Given the description of an element on the screen output the (x, y) to click on. 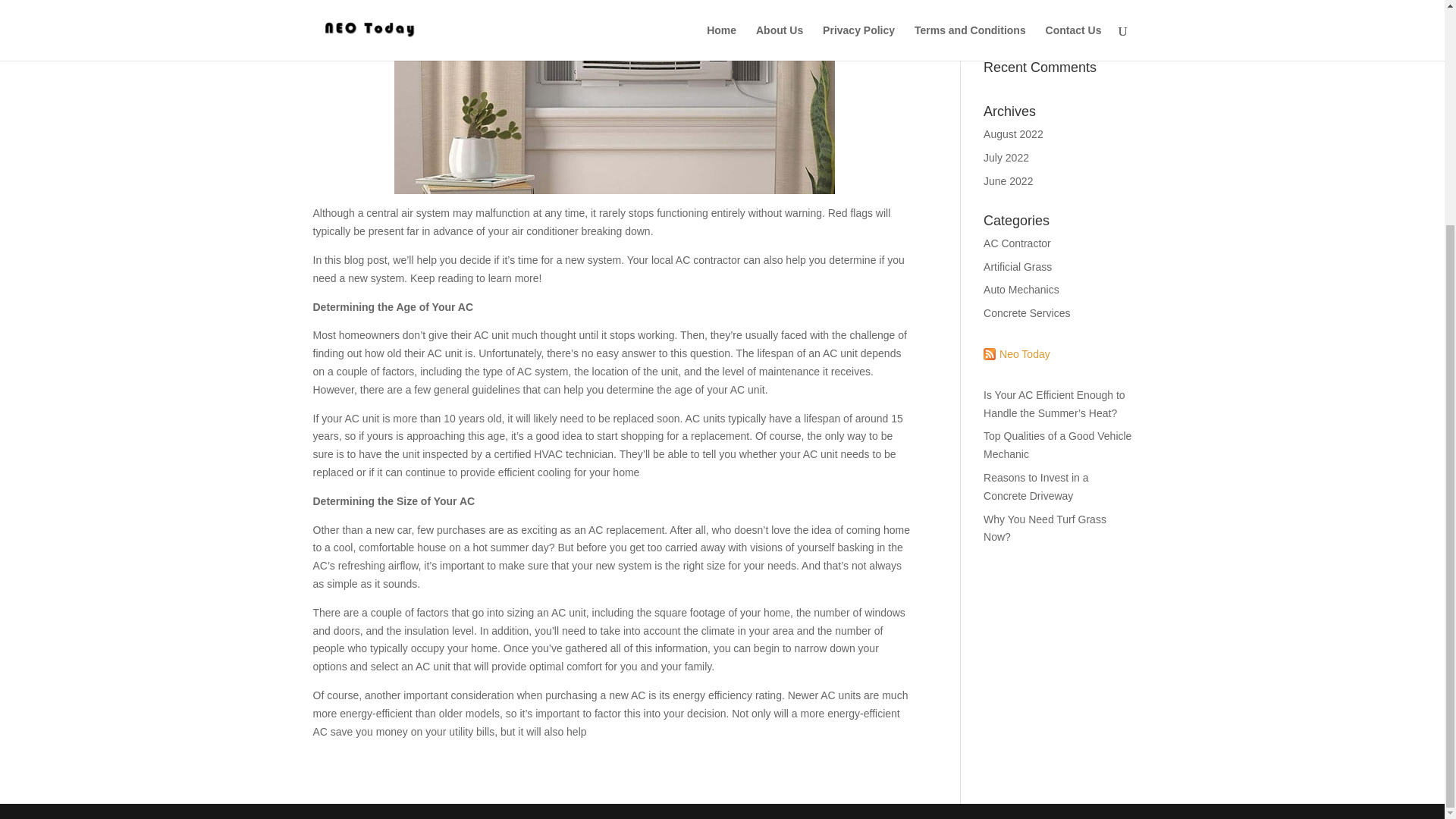
July 2022 (1006, 157)
June 2022 (1008, 181)
August 2022 (1013, 133)
Artificial Grass (1017, 266)
AC Contractor (1017, 243)
Neo Today (1016, 354)
Why You Need Turf Grass Now? (1045, 528)
Auto Mechanics (1021, 289)
Reasons to Invest in a Concrete Driveway (1036, 486)
Search (1106, 22)
Top Qualities of a Good Vehicle Mechanic (1057, 444)
Concrete Services (1027, 313)
Search (1106, 22)
